Given the description of an element on the screen output the (x, y) to click on. 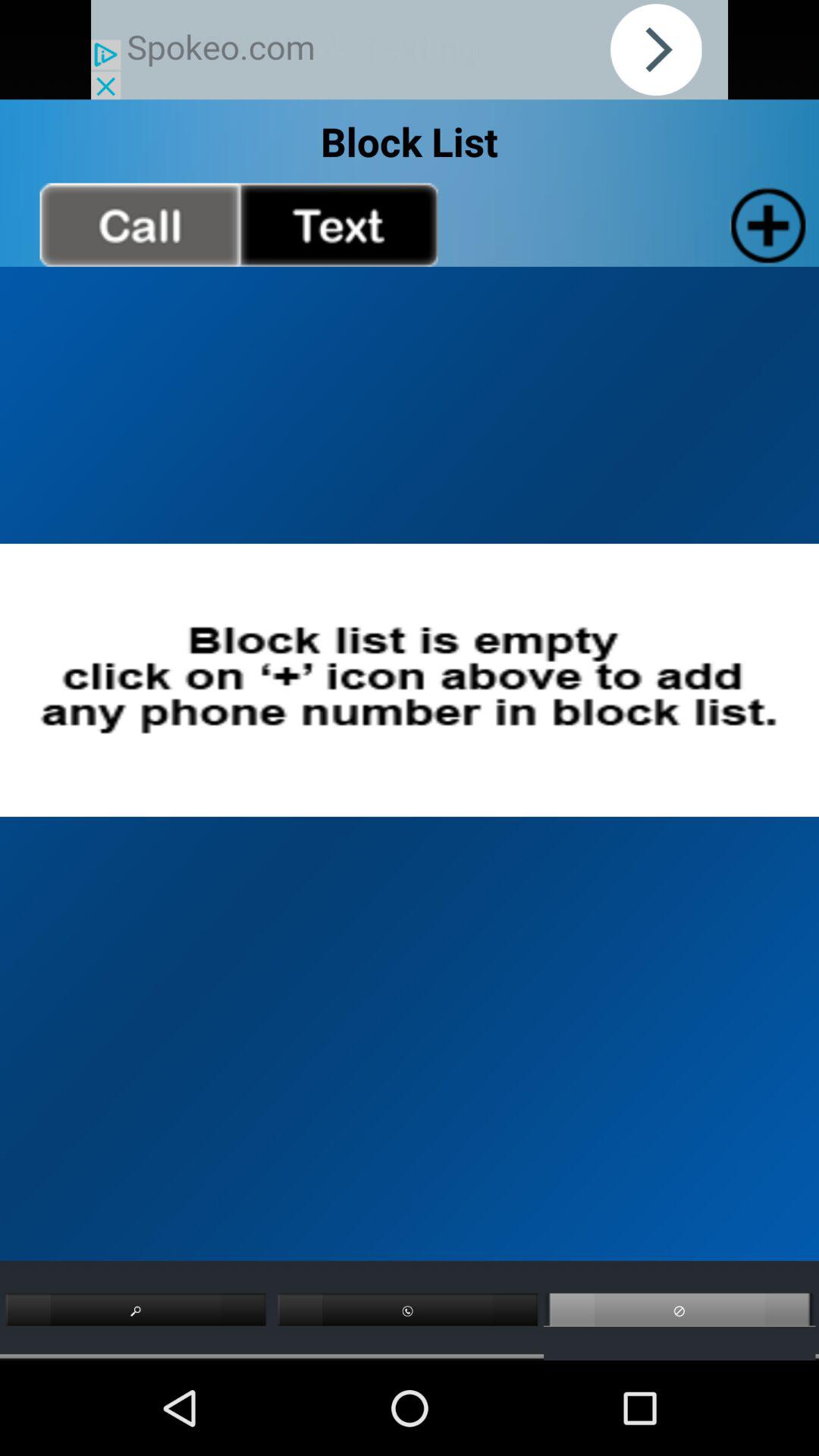
go back call option (138, 224)
